Given the description of an element on the screen output the (x, y) to click on. 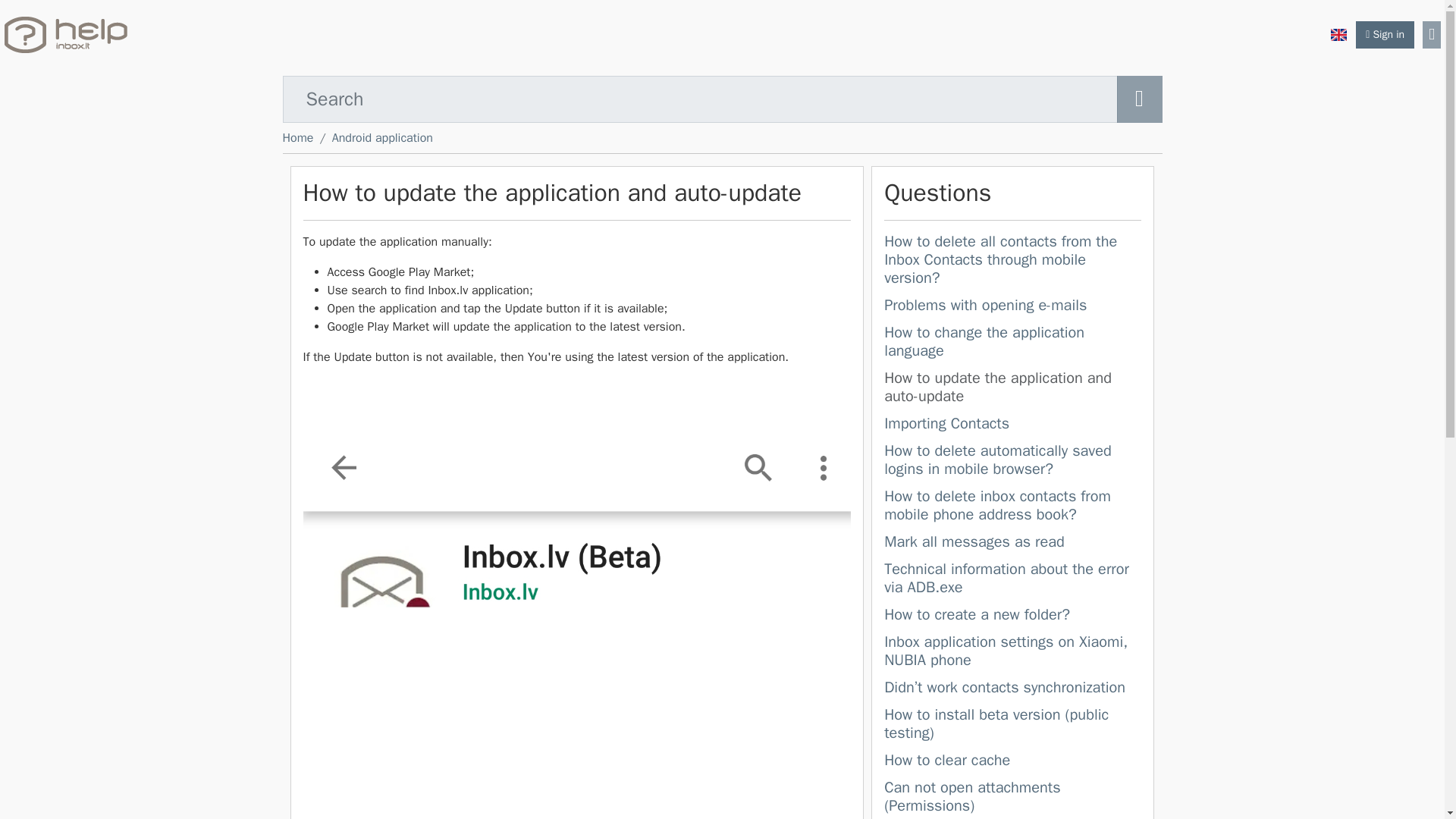
How to delete automatically saved logins in mobile browser? (1012, 461)
Inbox application settings on Xiaomi, NUBIA phone (1004, 650)
How to create a new folder? (976, 614)
Mark all messages as read (1012, 543)
search (1138, 99)
How to delete automatically saved logins in mobile browser? (997, 459)
Problems with opening e-mails (984, 304)
Android application (381, 137)
How to change the application language (983, 341)
